Given the description of an element on the screen output the (x, y) to click on. 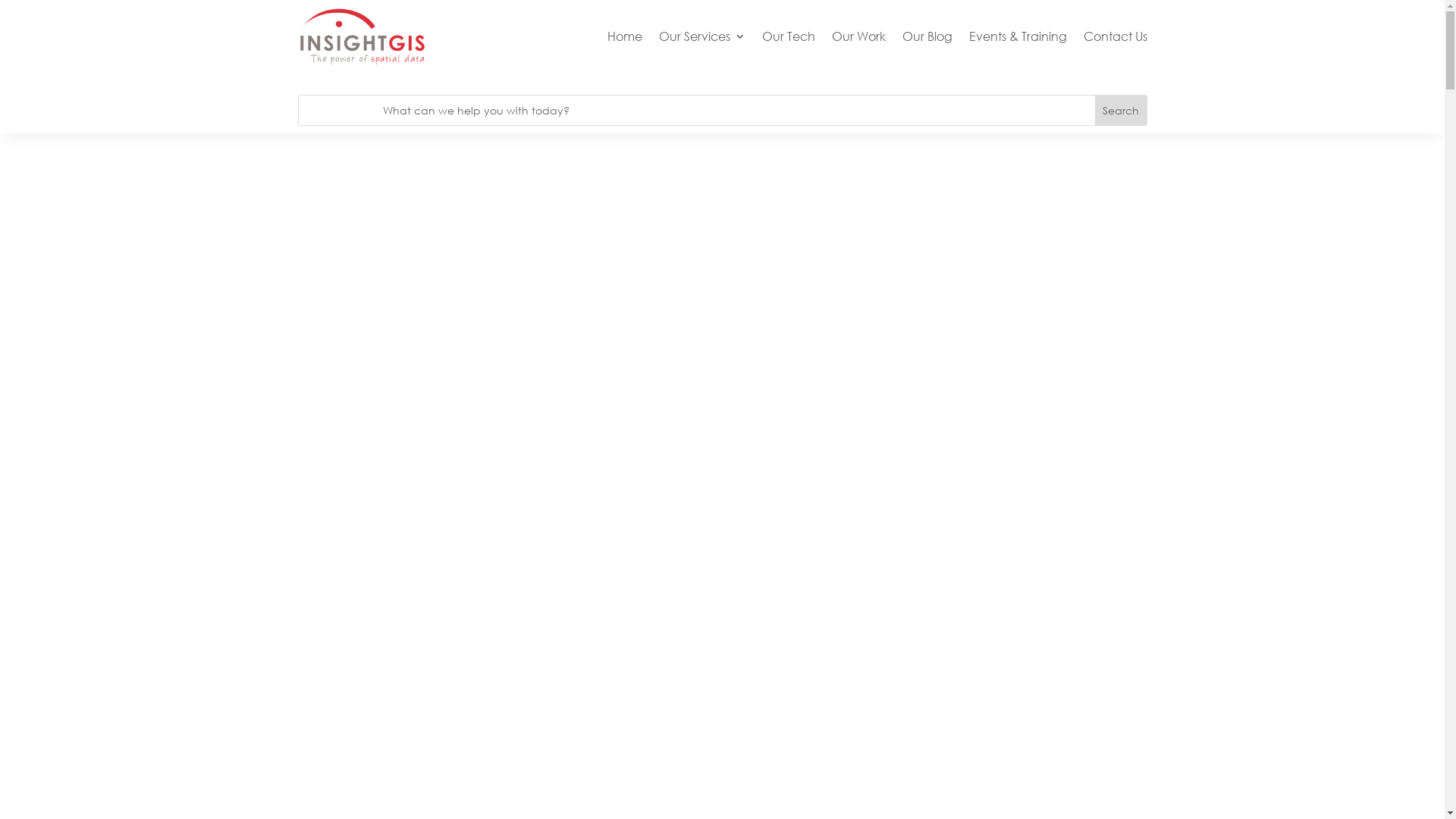
Events & Training Element type: text (1017, 36)
Our Services Element type: text (701, 36)
Home Element type: text (623, 36)
Our Tech Element type: text (787, 36)
Our Work Element type: text (857, 36)
Contact Us Element type: text (1114, 36)
Search Element type: text (1120, 110)
Our Blog Element type: text (927, 36)
